Given the description of an element on the screen output the (x, y) to click on. 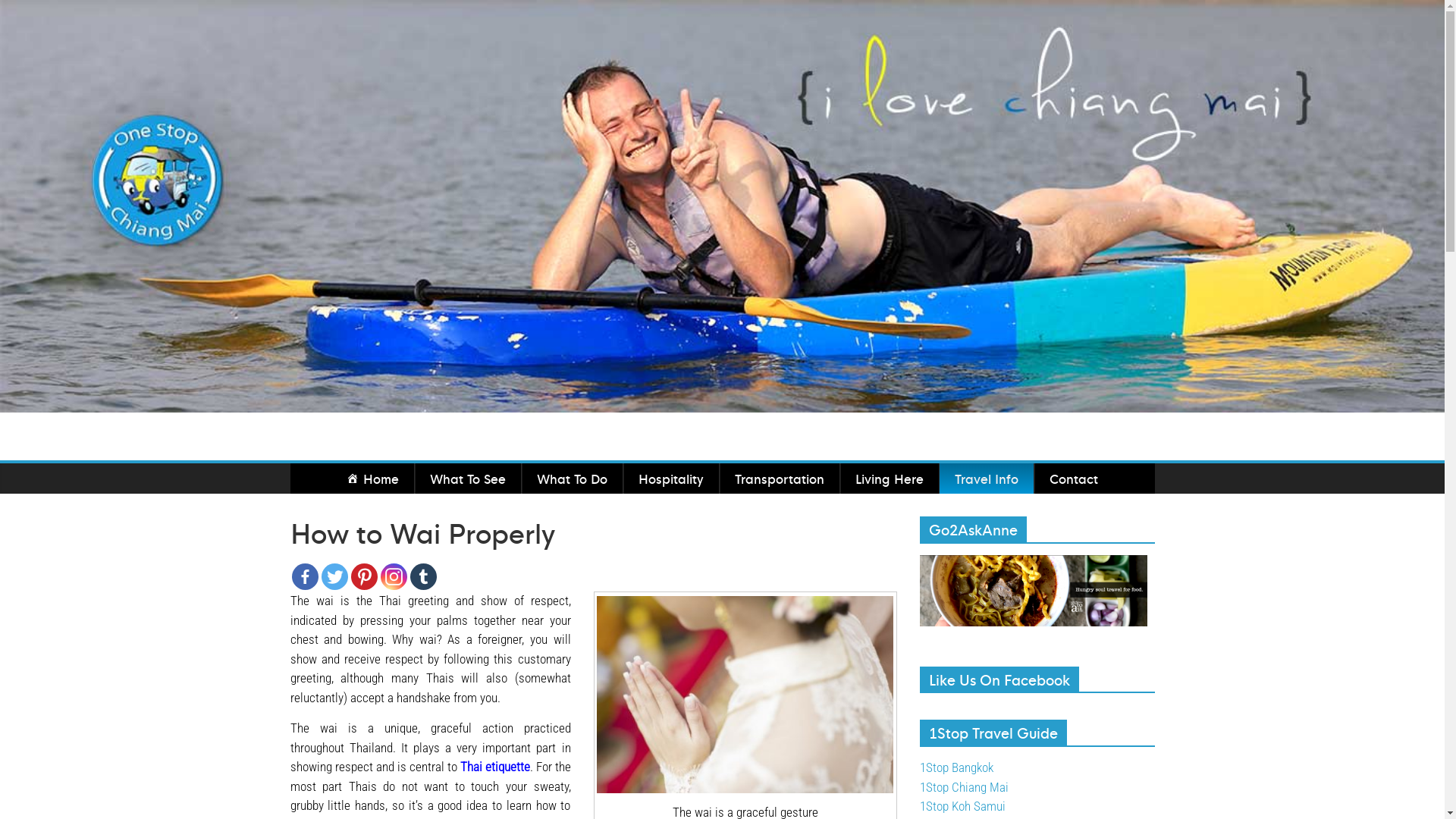
Transportation Element type: text (779, 478)
Tumblr Element type: hover (422, 576)
Hospitality Element type: text (670, 478)
Pinterest Element type: hover (363, 576)
What To Do Element type: text (571, 478)
1Stop Chiang Mai Element type: text (963, 786)
Twitter Element type: hover (334, 576)
Home Element type: text (372, 478)
What To See Element type: text (467, 478)
Contact Element type: text (1073, 478)
Thai etiquette Element type: text (494, 766)
1Stop Koh Samui Element type: text (961, 805)
Instagram Element type: hover (393, 576)
Travel Info Element type: text (986, 478)
1Stop Bangkok Element type: text (955, 767)
Living Here Element type: text (889, 478)
Facebook Element type: hover (304, 576)
